Given the description of an element on the screen output the (x, y) to click on. 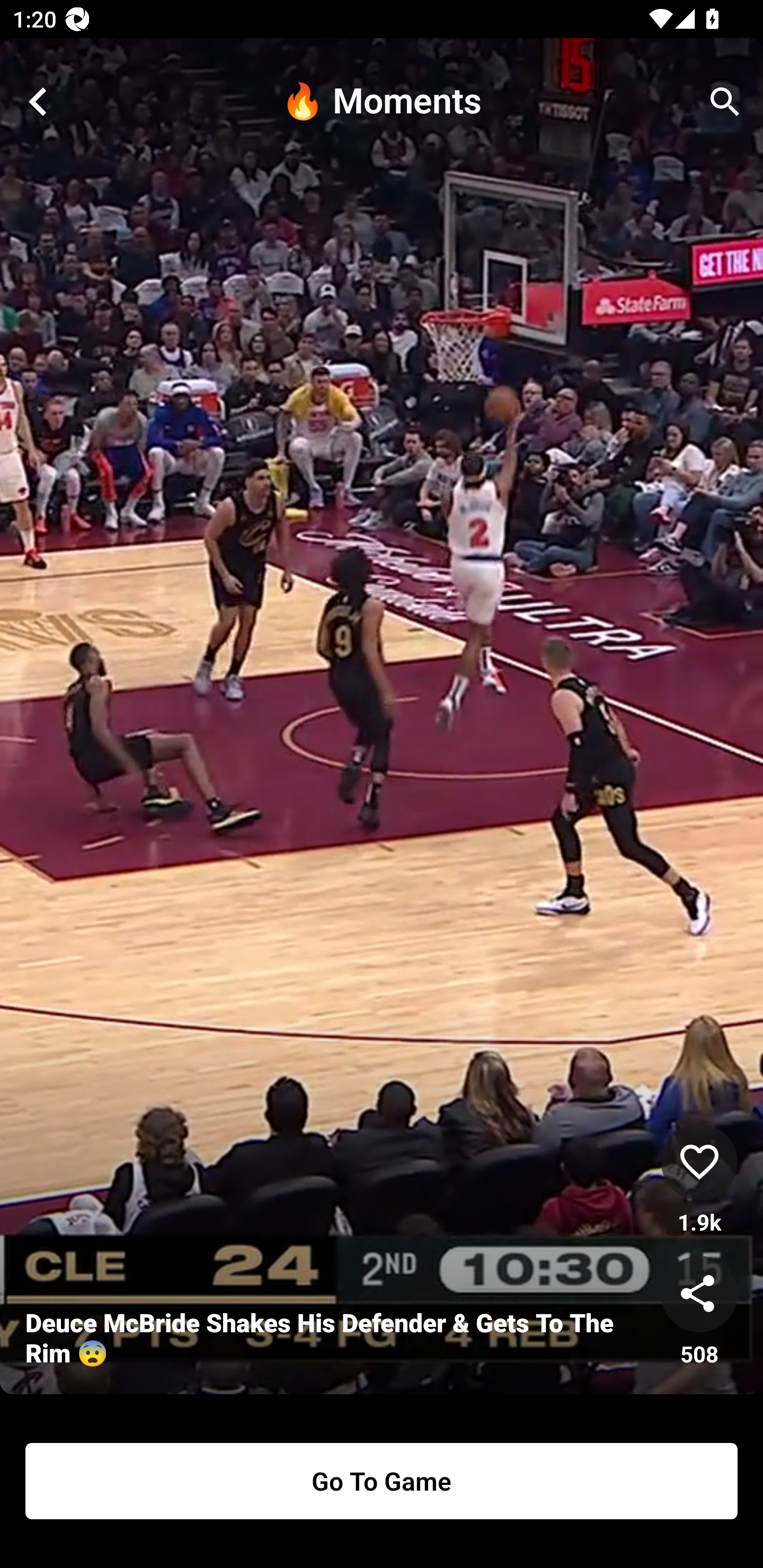
close (38, 101)
search (724, 101)
like 1.9k 1897 Likes (699, 1180)
share 508 508 Shares (699, 1311)
Go To Game (381, 1480)
